Given the description of an element on the screen output the (x, y) to click on. 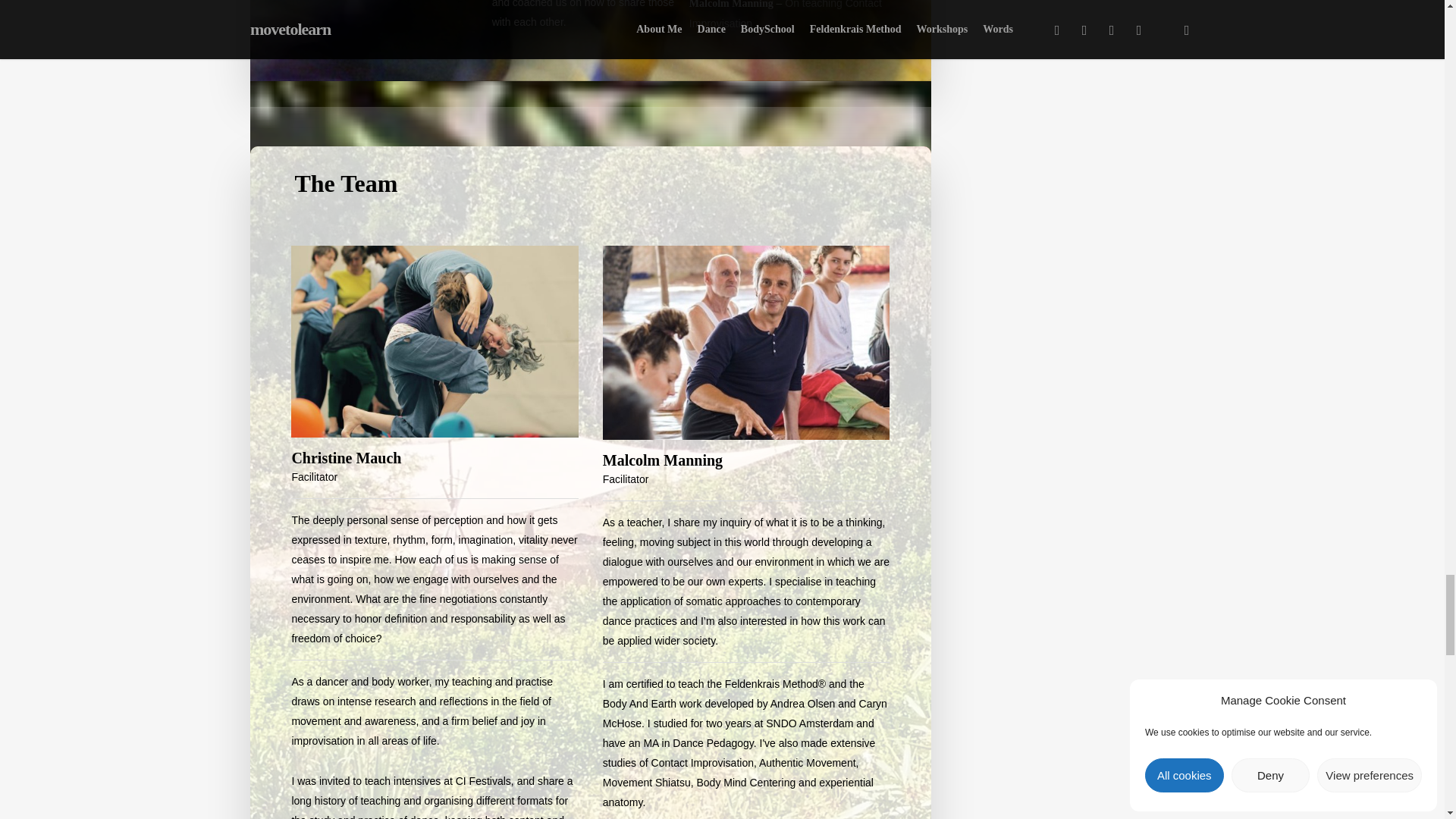
Christine Mauch (434, 340)
Malcolm Manning (745, 342)
